Given the description of an element on the screen output the (x, y) to click on. 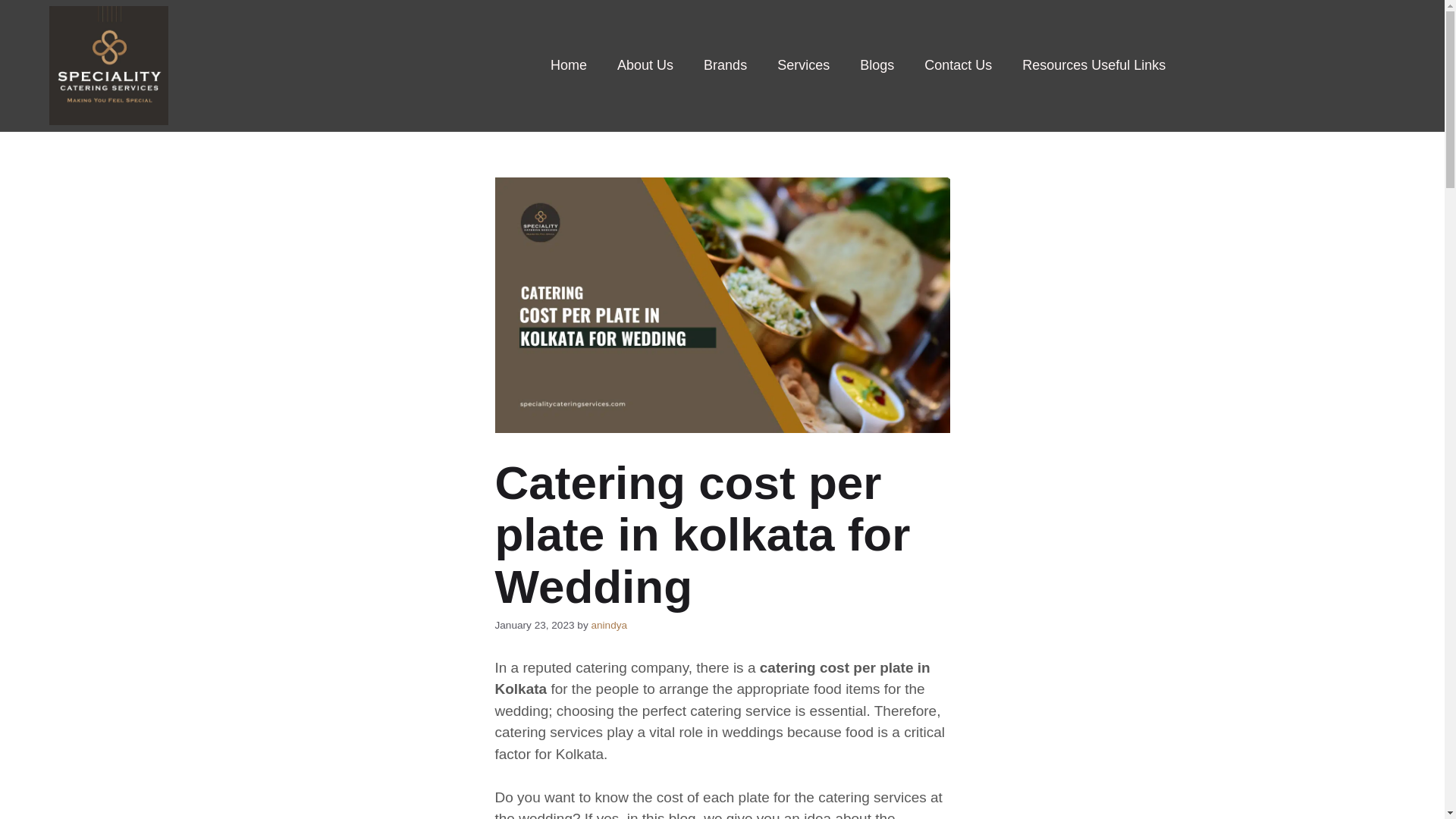
Home (568, 64)
About Us (645, 64)
Contact Us (957, 64)
Brands (724, 64)
Resources Useful Links (1093, 64)
Blogs (876, 64)
Services (802, 64)
anindya (609, 624)
View all posts by anindya (609, 624)
